Given the description of an element on the screen output the (x, y) to click on. 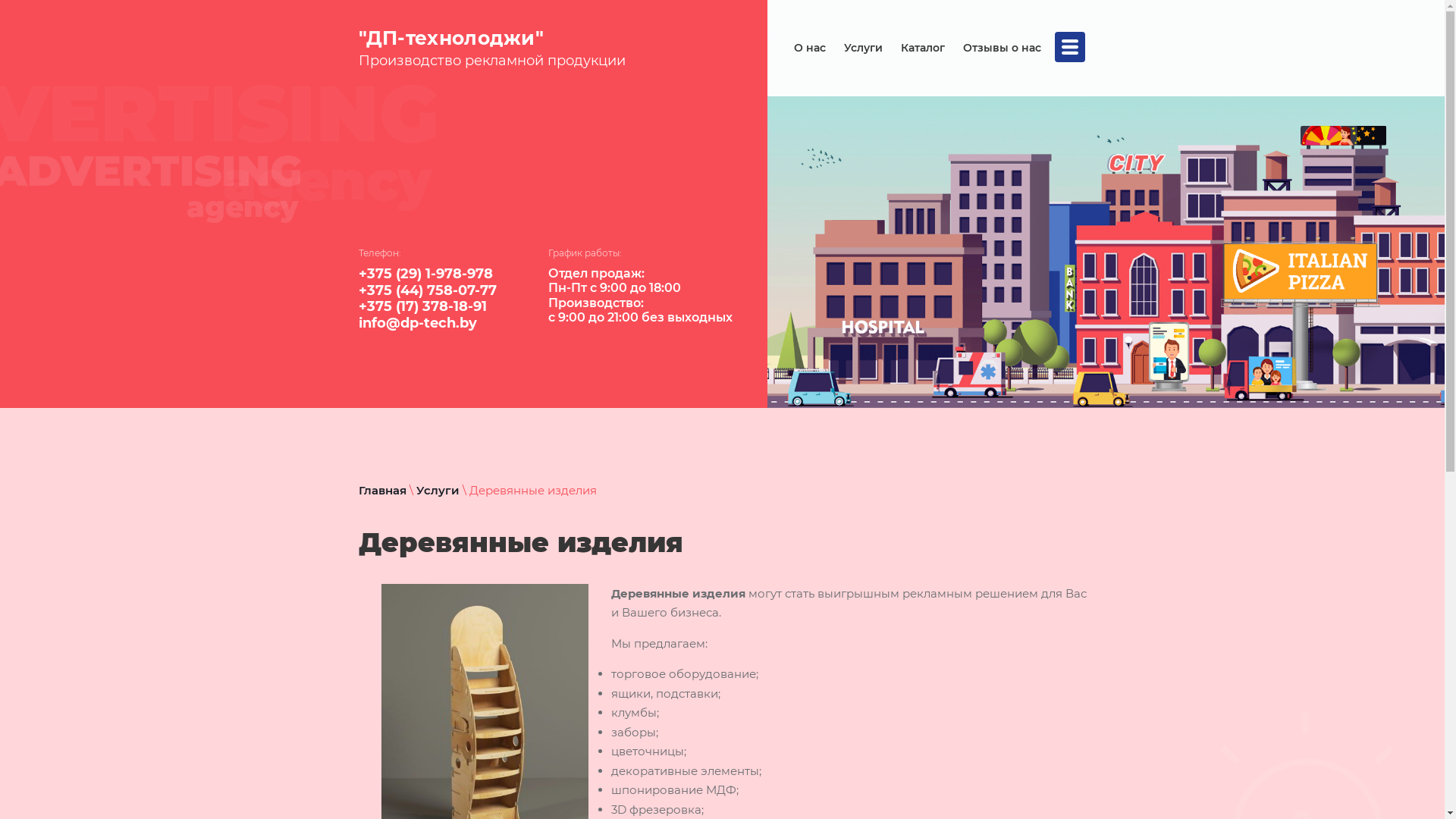
+375 (29) 1-978-978 Element type: text (424, 273)
+375 (17) 378-18-91 Element type: text (421, 306)
... Element type: text (1069, 46)
+375 (44) 758-07-77 Element type: text (426, 290)
info@dp-tech.by Element type: text (416, 322)
